Given the description of an element on the screen output the (x, y) to click on. 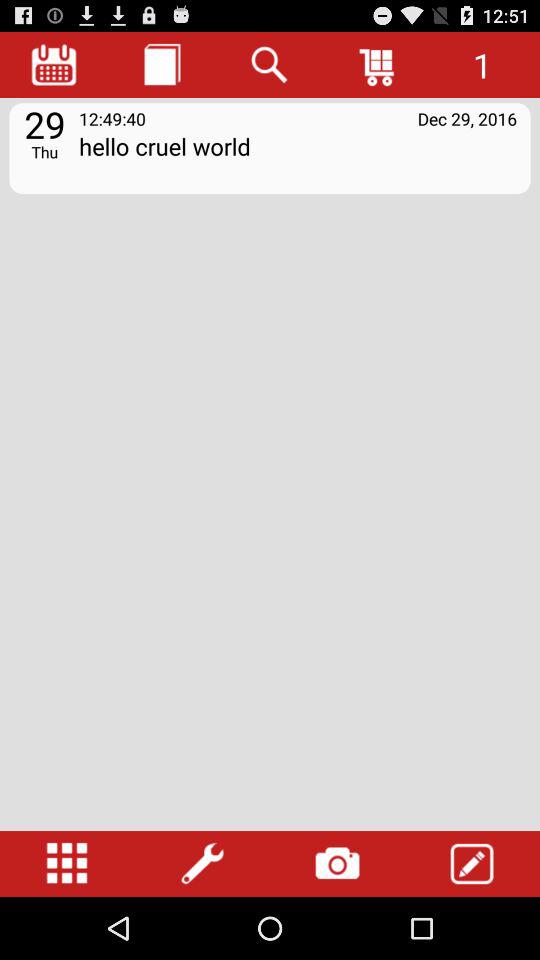
search button (270, 64)
